Given the description of an element on the screen output the (x, y) to click on. 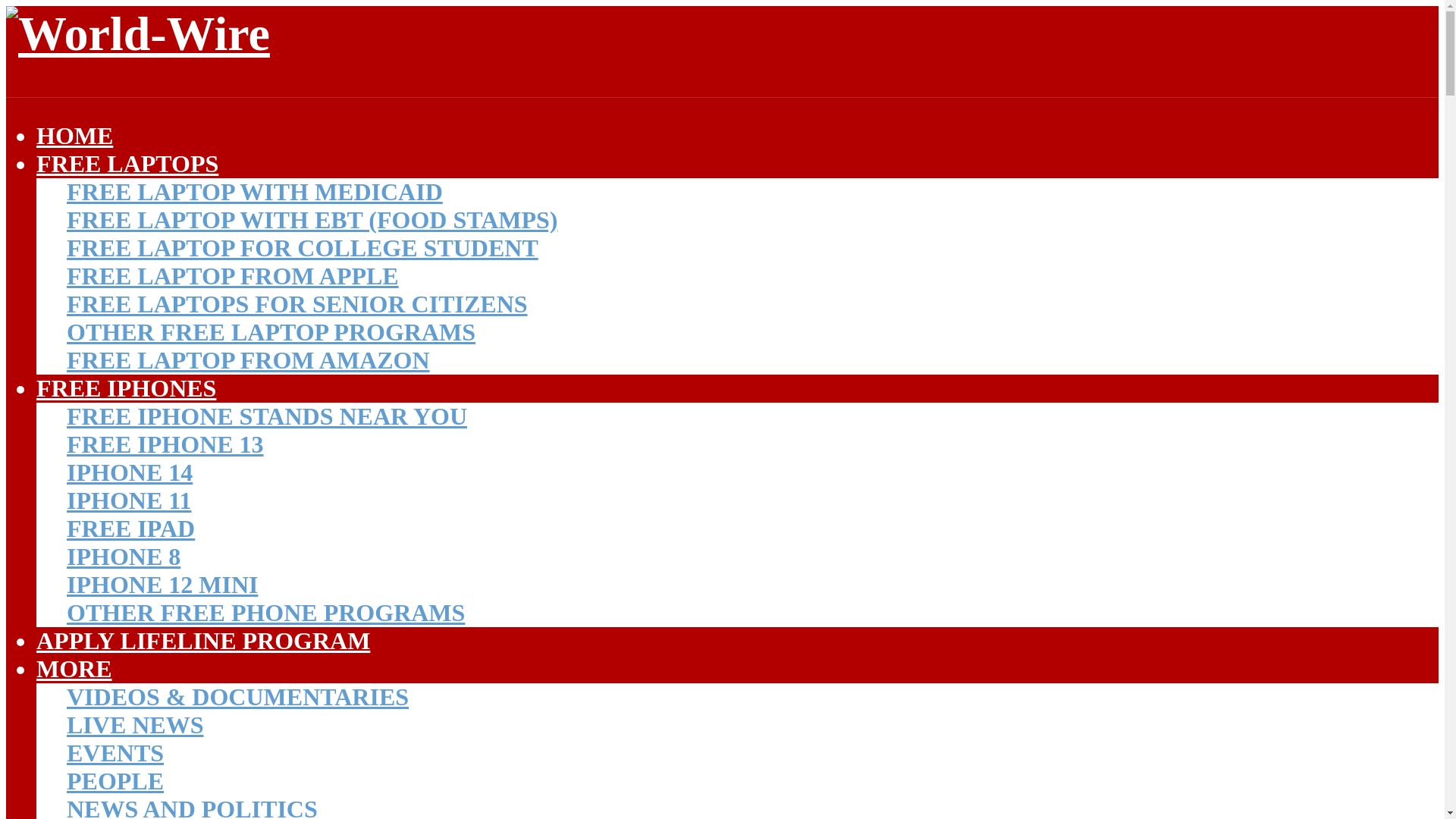
MORE (74, 668)
FREE LAPTOPS (127, 163)
IPHONE 11 (128, 500)
FREE IPHONE STANDS NEAR YOU (266, 415)
OTHER FREE LAPTOP PROGRAMS (271, 331)
HOME (74, 135)
FREE LAPTOP FROM AMAZON (247, 359)
APPLY LIFELINE PROGRAM (202, 640)
FREE LAPTOP WITH MEDICAID (254, 191)
FREE IPAD (130, 528)
